Given the description of an element on the screen output the (x, y) to click on. 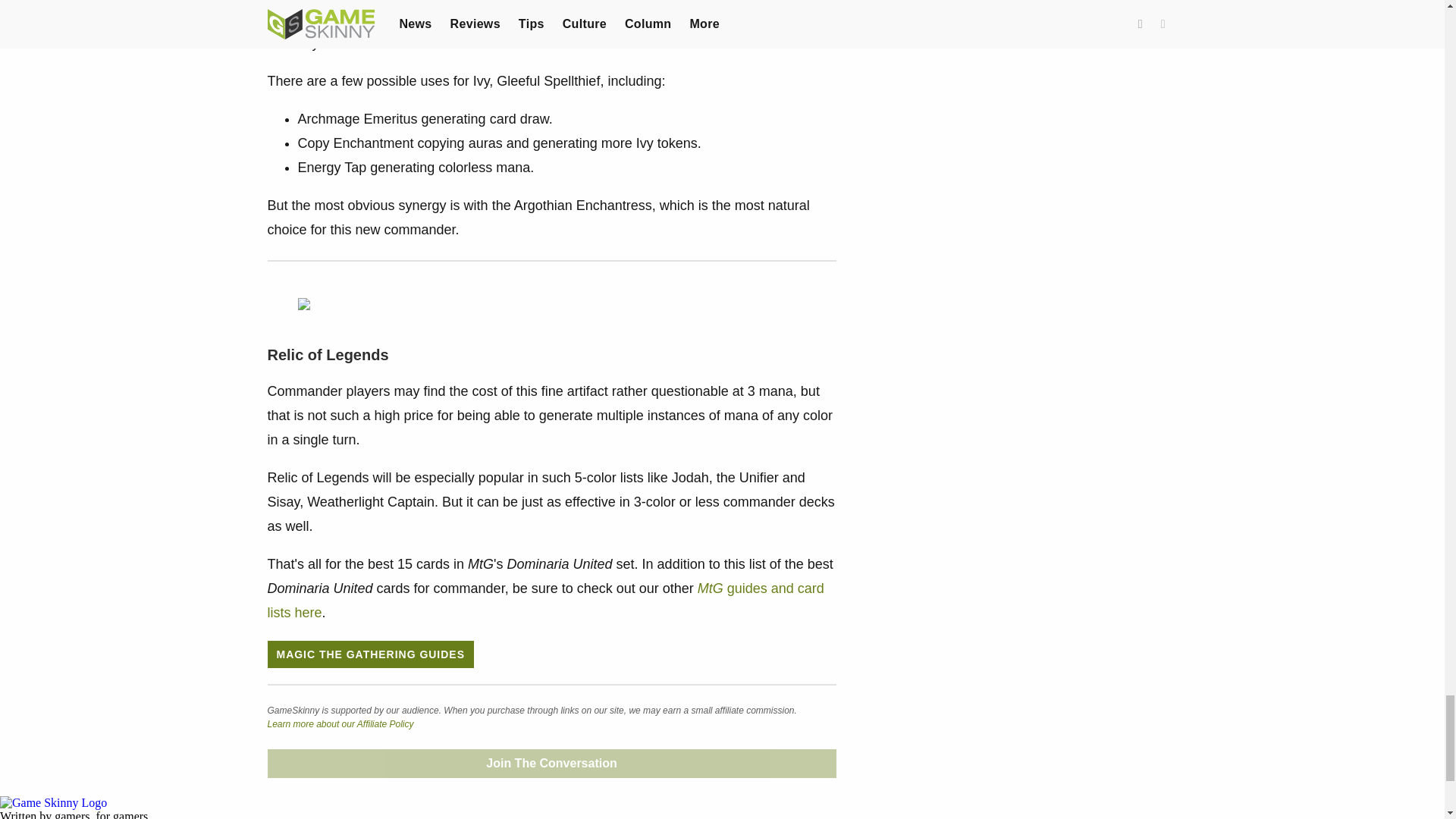
Join The Conversation (550, 763)
